Given the description of an element on the screen output the (x, y) to click on. 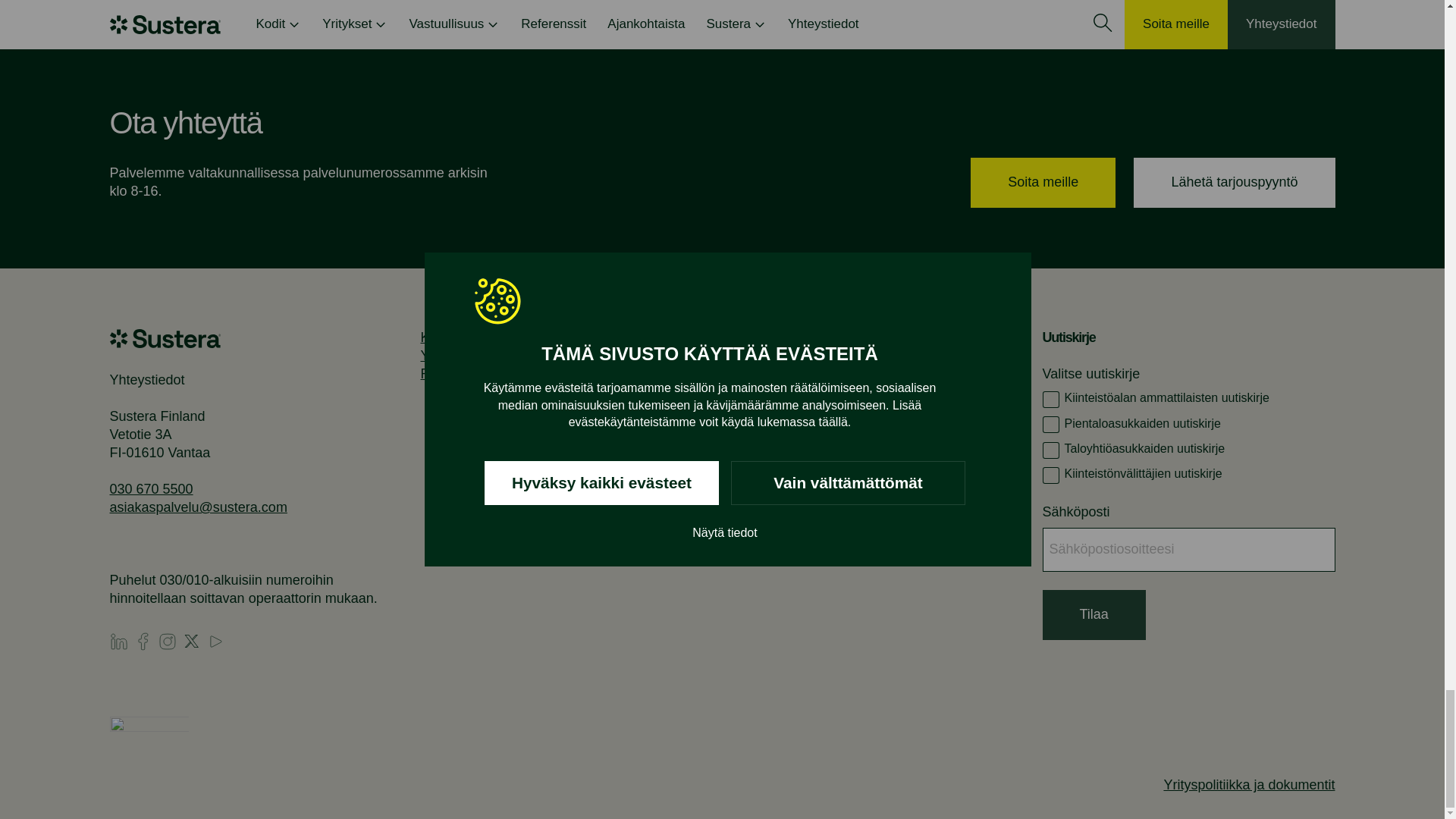
Pientaloasukkaiden uutiskirje (1050, 424)
Tilaa (1093, 614)
